Given the description of an element on the screen output the (x, y) to click on. 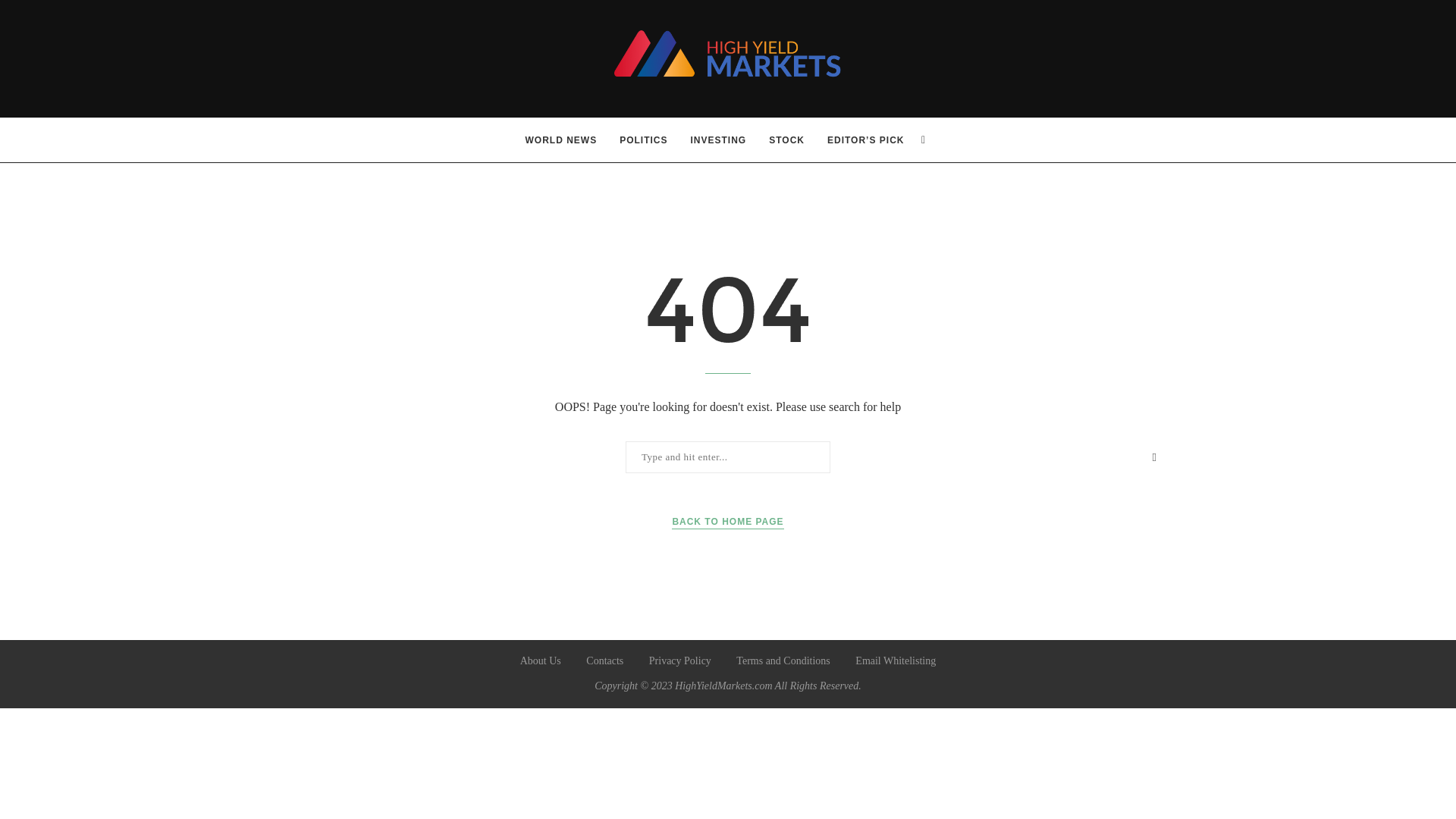
Email Whitelisting (896, 660)
Contacts (604, 660)
WORLD NEWS (560, 139)
Terms and Conditions (782, 660)
About Us (539, 660)
BACK TO HOME PAGE (727, 522)
Privacy Policy (680, 660)
INVESTING (718, 139)
POLITICS (643, 139)
